Given the description of an element on the screen output the (x, y) to click on. 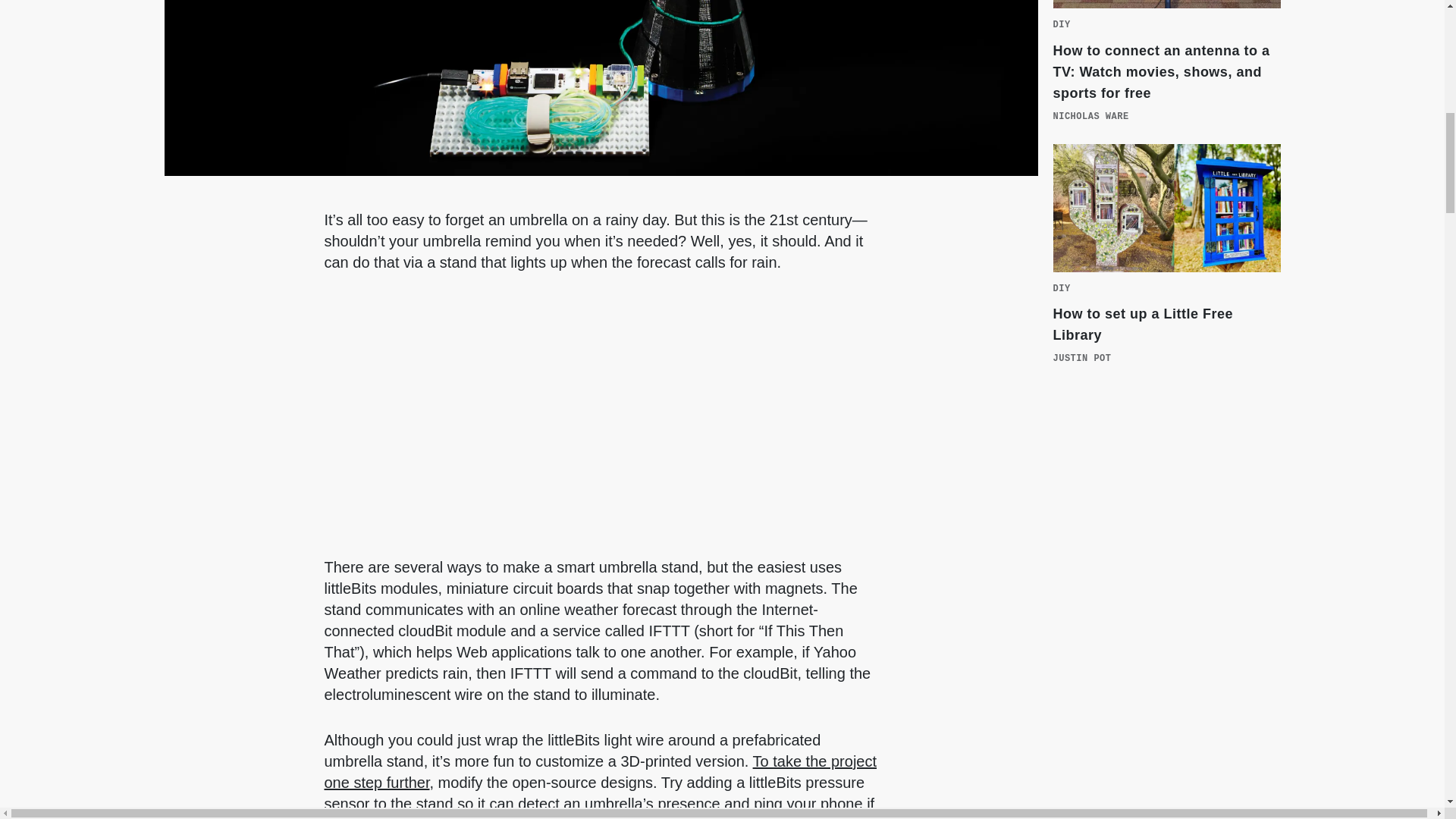
3rd party ad content (1165, 523)
